Given the description of an element on the screen output the (x, y) to click on. 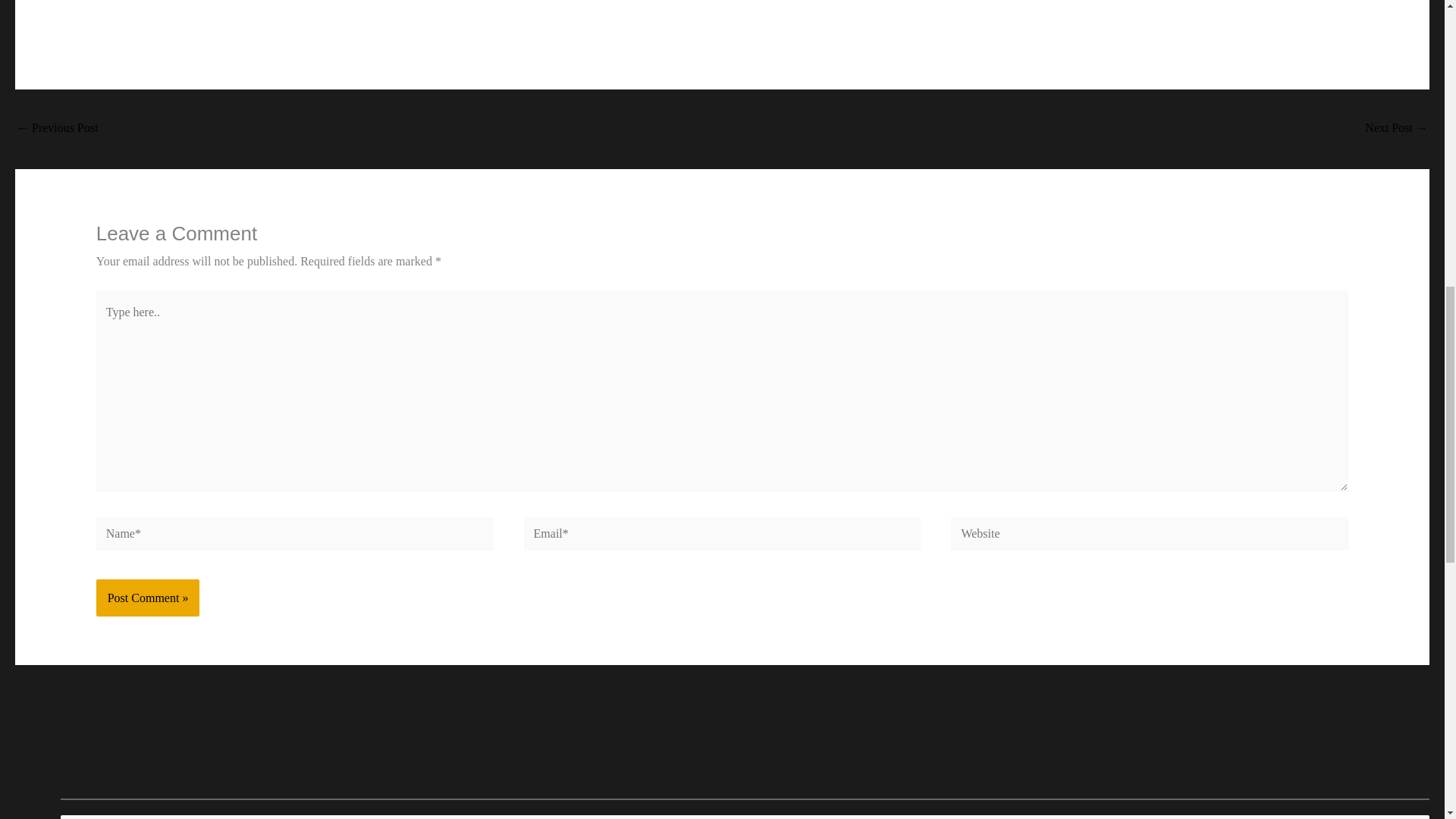
Break from raiding (1396, 129)
Search (1411, 816)
Search (1411, 816)
Like or Reblog (722, 12)
